Given the description of an element on the screen output the (x, y) to click on. 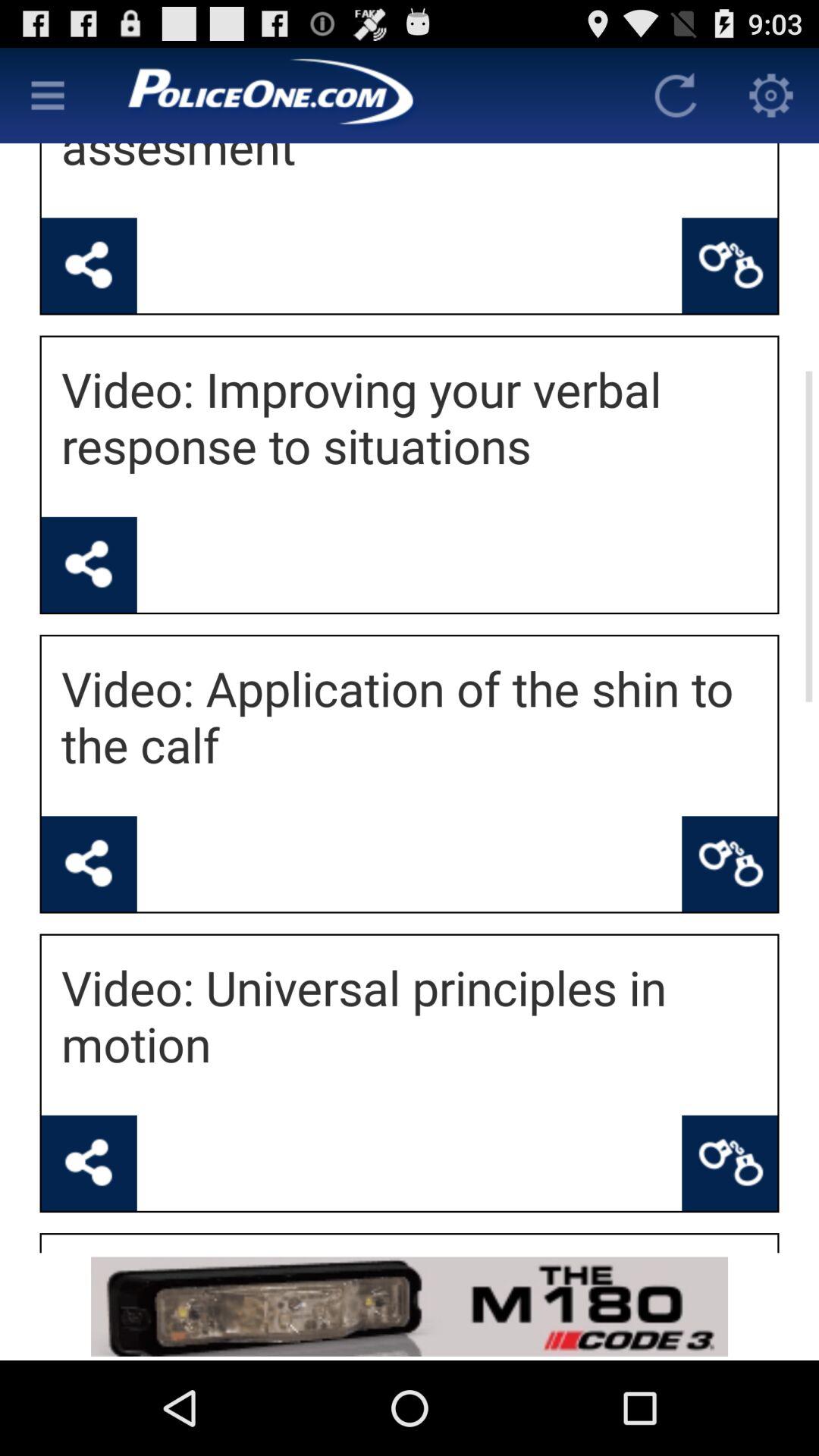
share with others (89, 265)
